Given the description of an element on the screen output the (x, y) to click on. 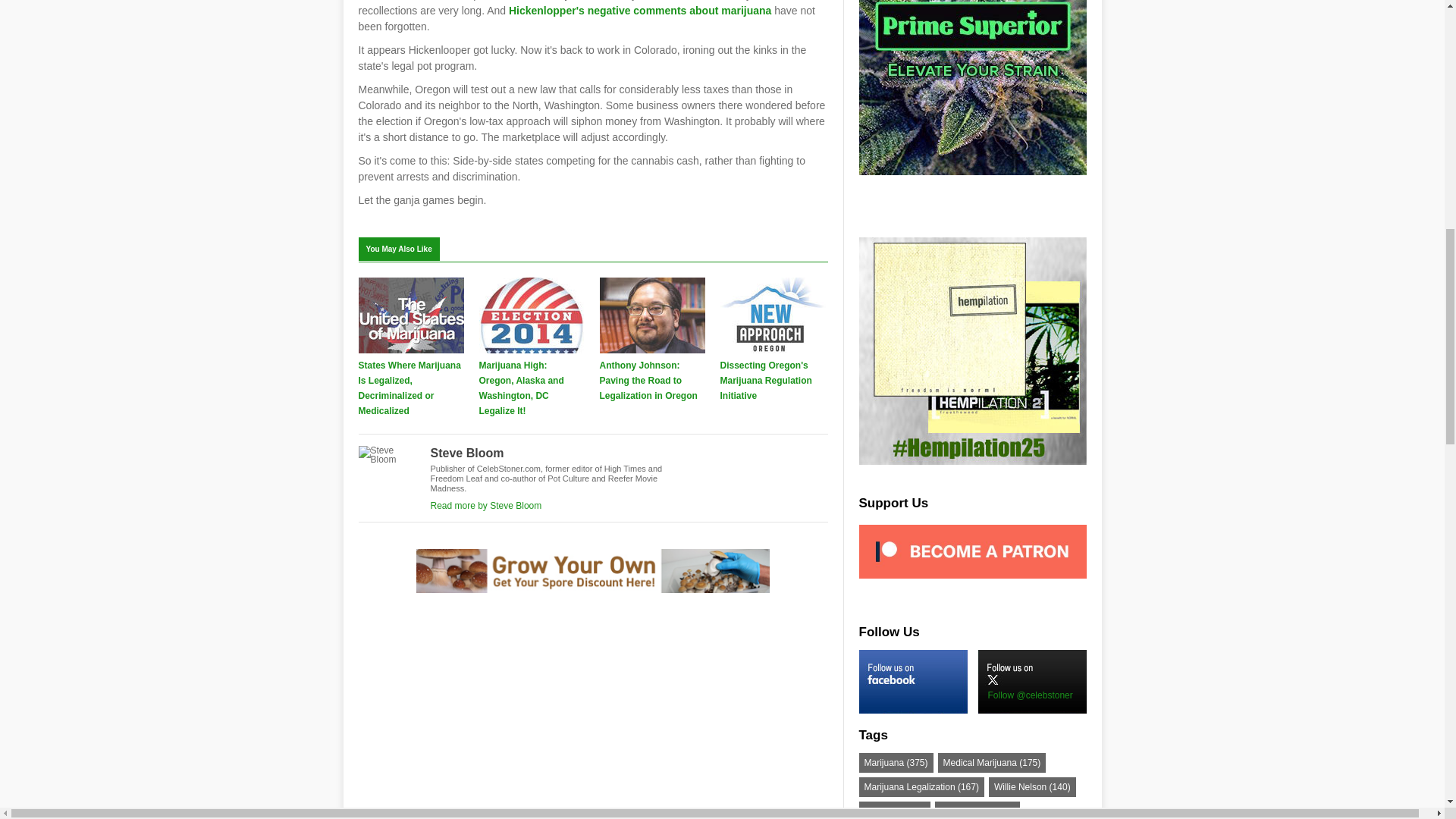
Marijuana topics (896, 762)
celebstoner.com (639, 10)
Marijuana Legalization topics (921, 786)
Medical Marijuana topics (991, 762)
Snoop Dogg topics (977, 810)
Colorado topics (894, 810)
Willie Nelson topics (1031, 786)
